Given the description of an element on the screen output the (x, y) to click on. 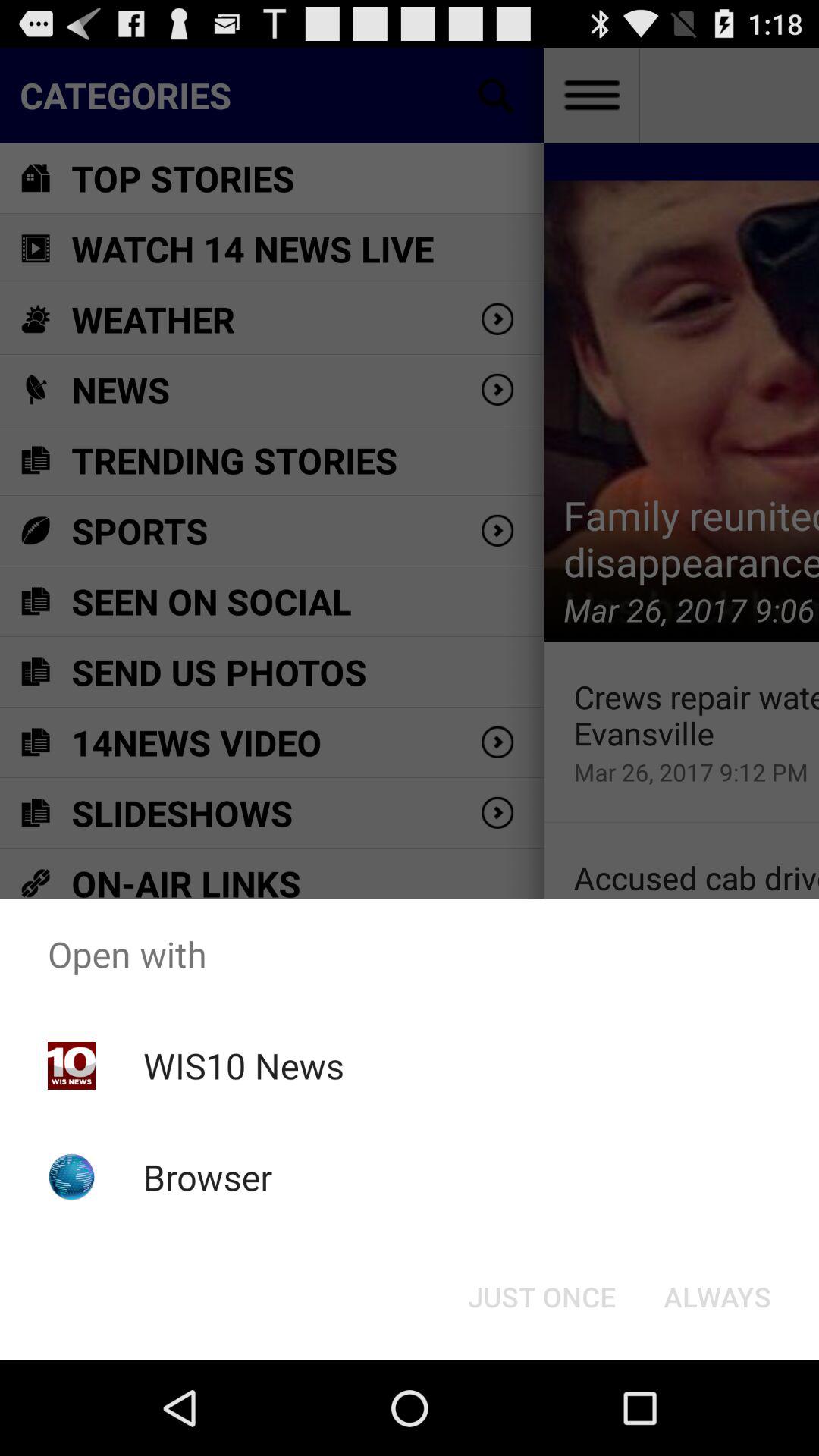
tap the icon next to the just once button (717, 1296)
